Given the description of an element on the screen output the (x, y) to click on. 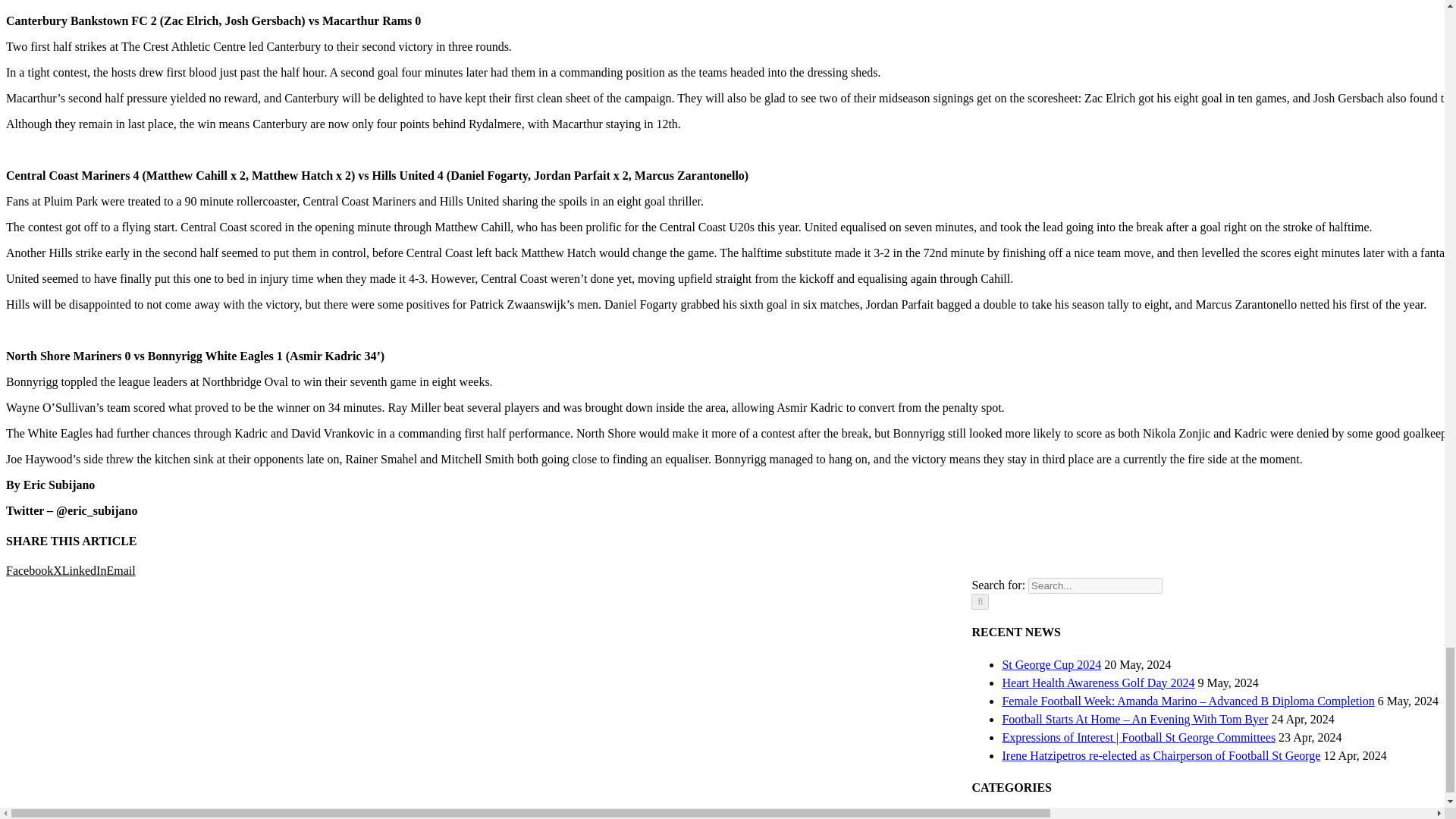
LinkedIn (84, 570)
Facebook (28, 570)
Email (120, 570)
X (57, 570)
